Given the description of an element on the screen output the (x, y) to click on. 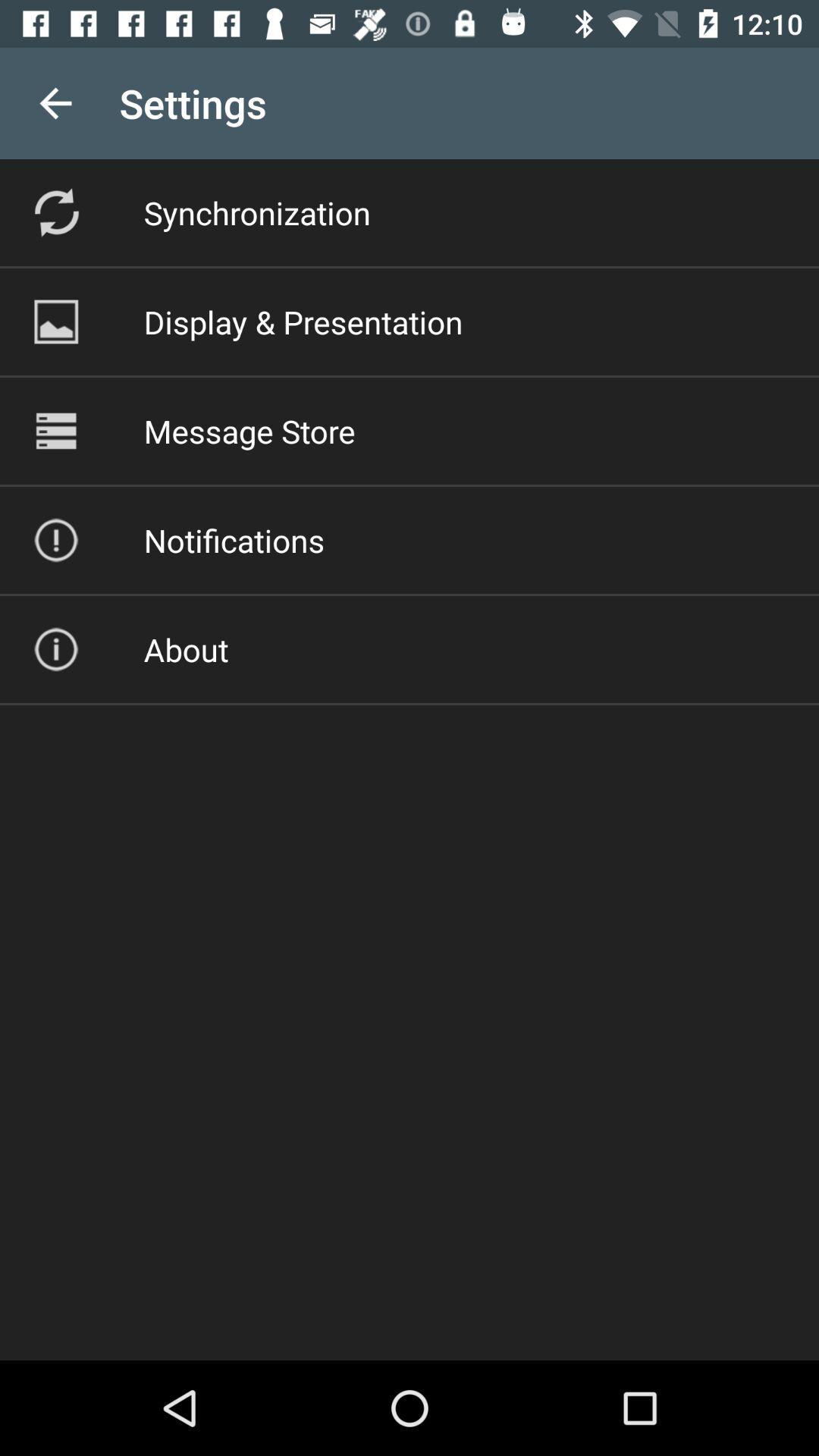
flip until the message store (249, 430)
